Given the description of an element on the screen output the (x, y) to click on. 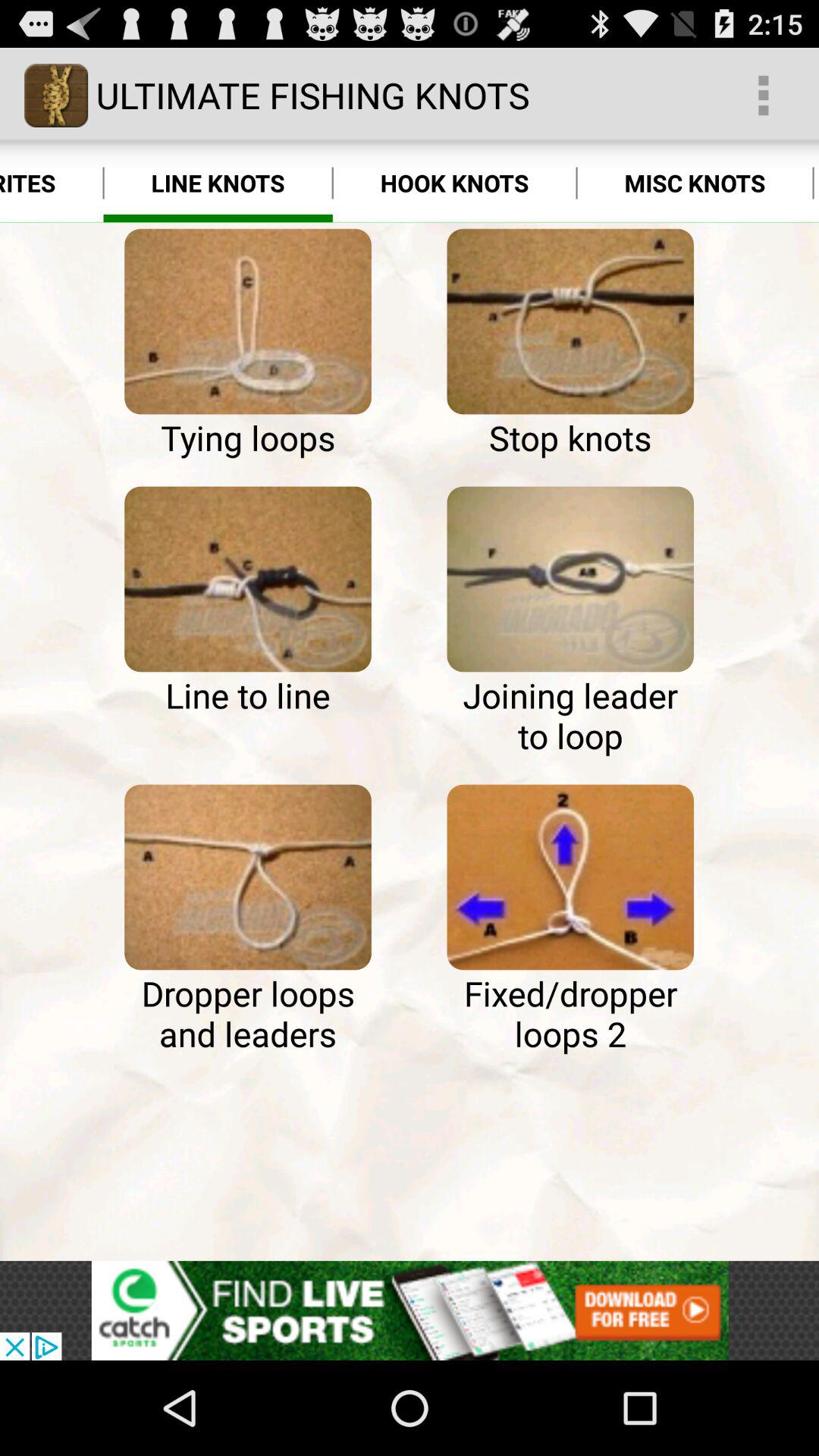
selecting the style of knots (247, 876)
